Given the description of an element on the screen output the (x, y) to click on. 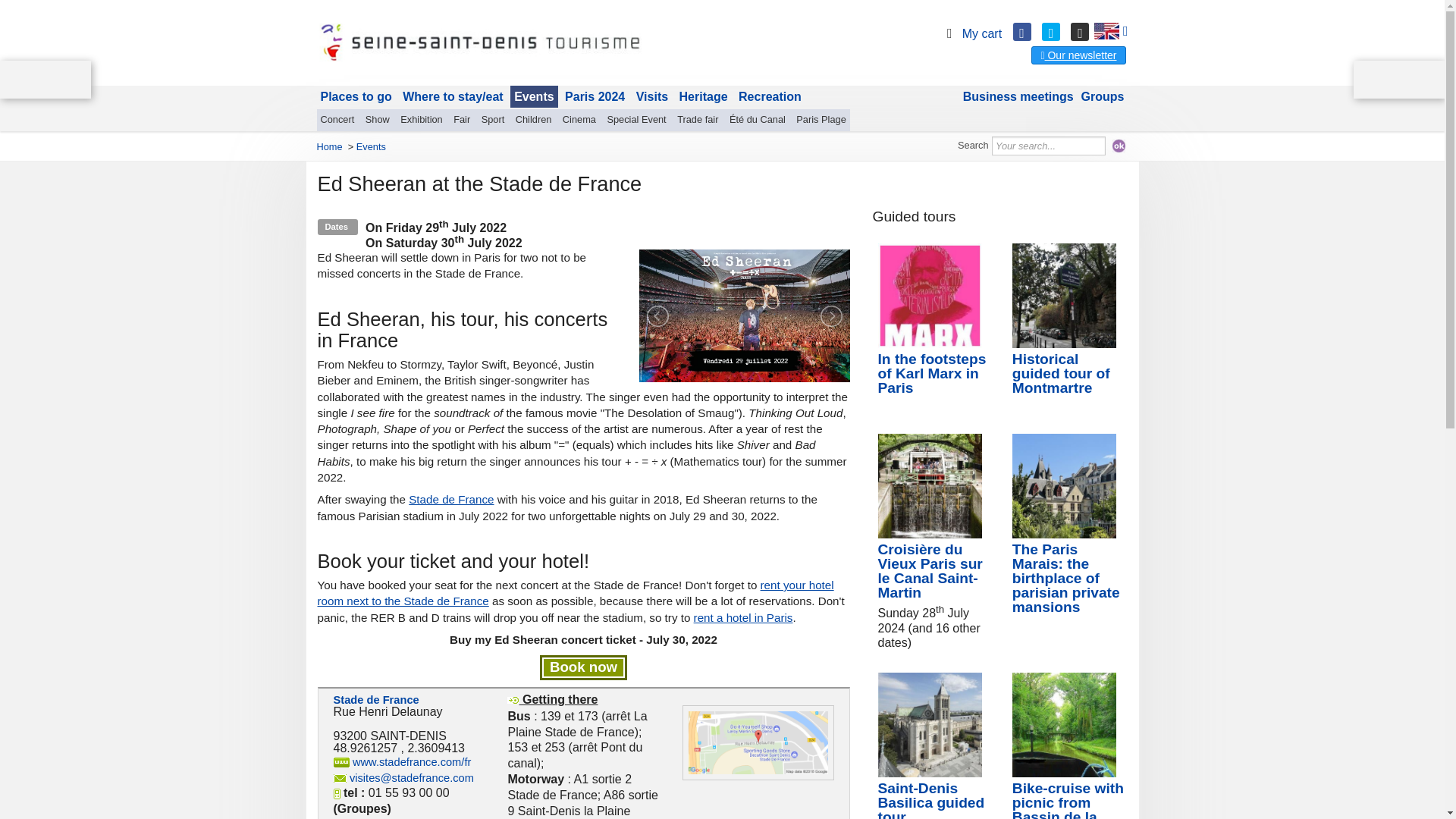
Children (534, 119)
Sport (492, 119)
 My cart (970, 33)
Fair (461, 119)
Concert (337, 119)
Events (534, 96)
Cinema (579, 119)
Show (377, 119)
Paris 2024 (594, 96)
Our newsletter (1077, 54)
Paris Plage (820, 119)
Places to go (356, 96)
2.3609413 (435, 748)
Trade fair (697, 119)
